Given the description of an element on the screen output the (x, y) to click on. 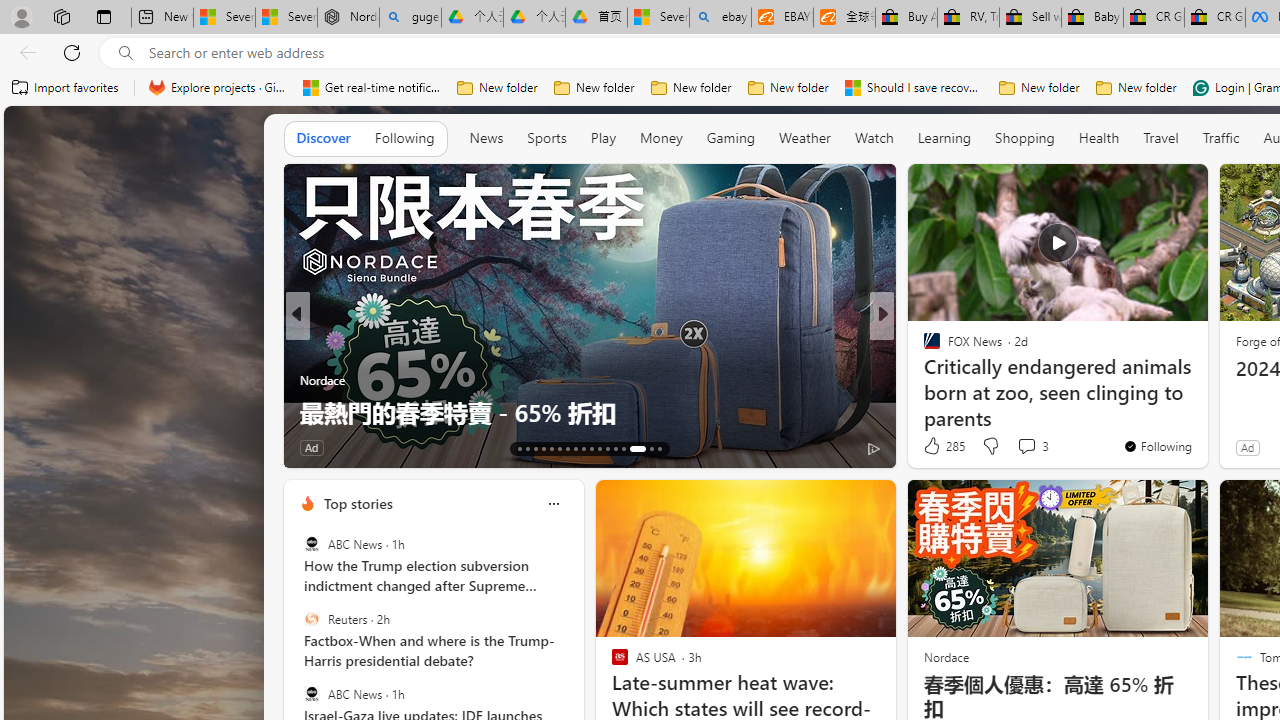
Komando (923, 380)
Gaming (730, 138)
Should I save recovered Word documents? - Microsoft Support (913, 88)
AutomationID: tab-15 (535, 448)
Travel (1160, 138)
View comments 6 Comment (404, 447)
Weather (804, 138)
Reuters (311, 619)
AutomationID: tab-19 (567, 448)
View comments 3 Comment (1026, 445)
Tab actions menu (104, 16)
Ad Choice (264, 448)
